Given the description of an element on the screen output the (x, y) to click on. 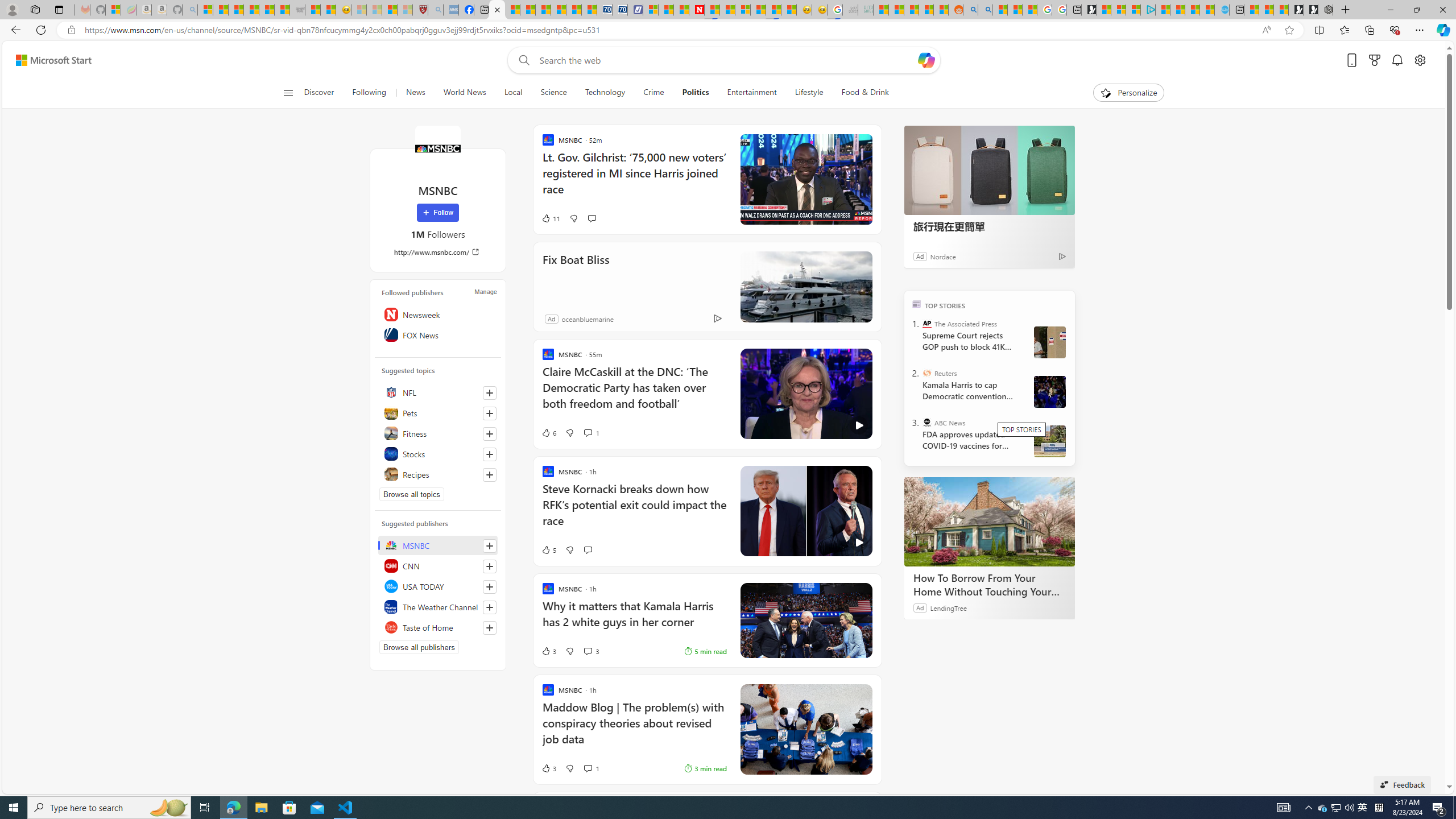
Recipes (437, 474)
Newsweek (437, 314)
The Weather Channel (437, 606)
NFL (437, 392)
